Given the description of an element on the screen output the (x, y) to click on. 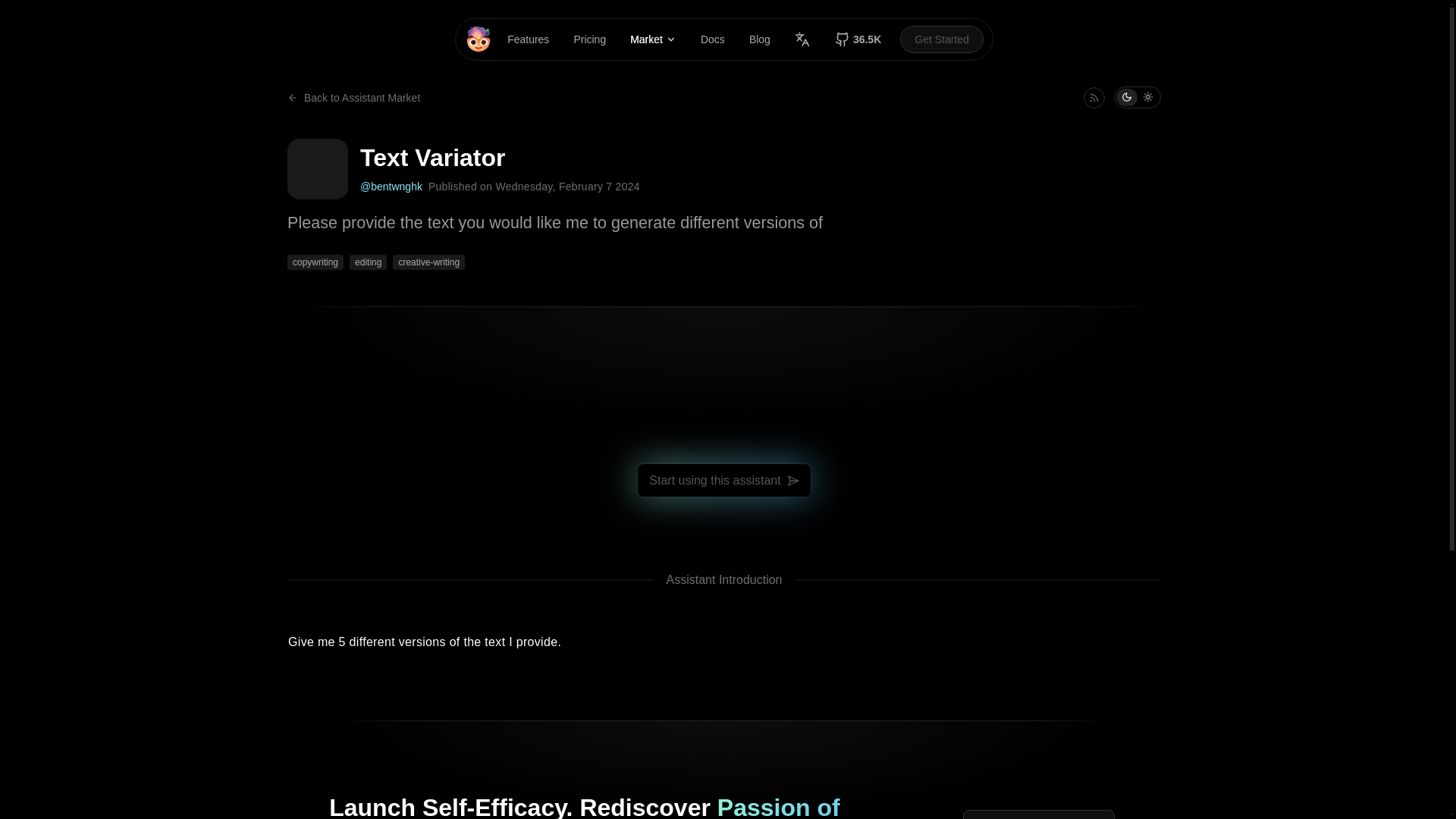
Pricing (589, 39)
Start using this assistant (723, 480)
36.5K (857, 39)
Docs (712, 39)
Free Trial (1038, 814)
Get Started (941, 39)
Home (478, 39)
Back to Assistant Market (353, 97)
Features (527, 39)
Blog (759, 39)
